Given the description of an element on the screen output the (x, y) to click on. 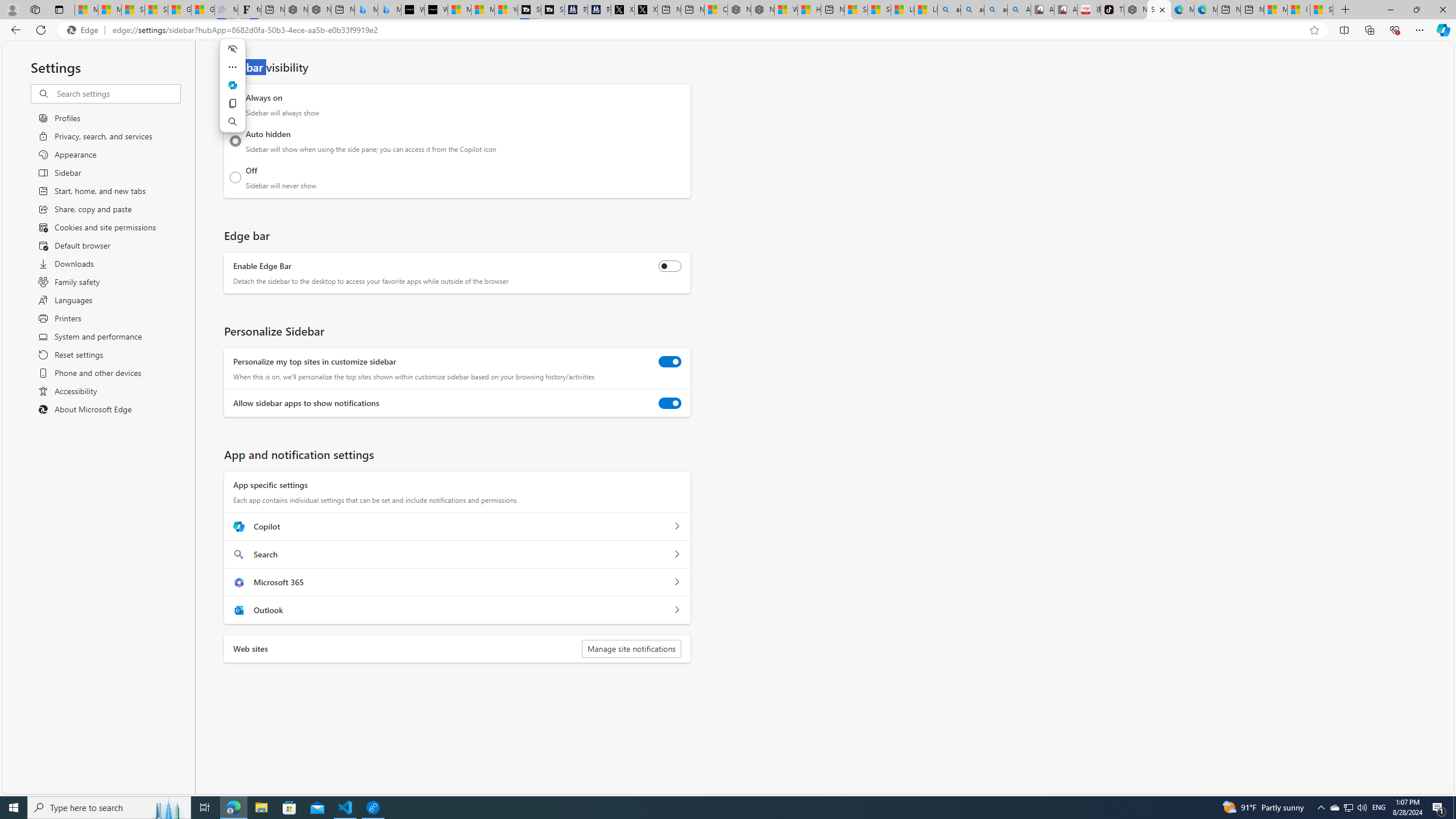
Off Sidebar will never show (235, 177)
Hide menu (231, 49)
Mini menu on text selection (231, 84)
